Given the description of an element on the screen output the (x, y) to click on. 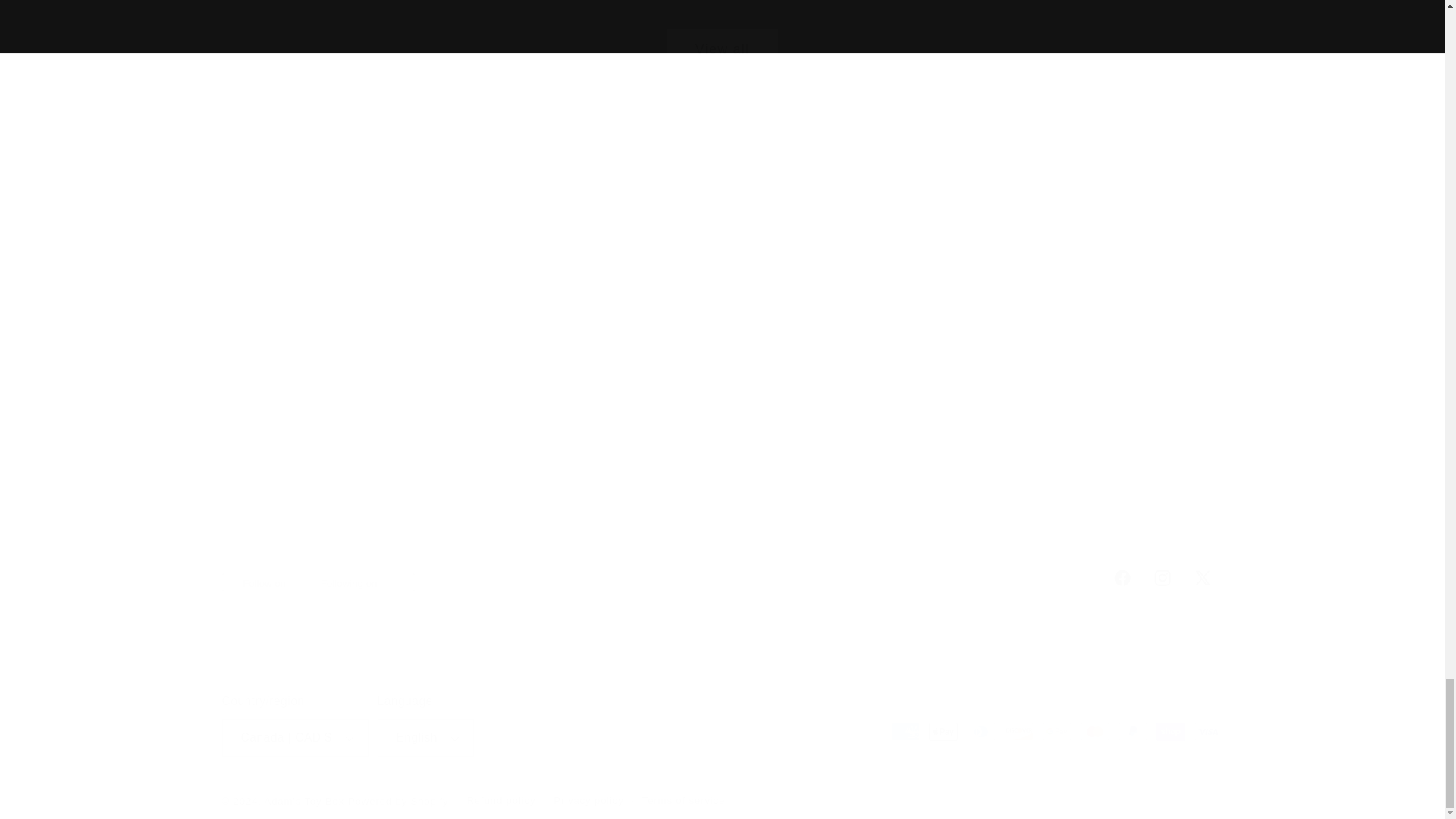
View all (722, 35)
